Given the description of an element on the screen output the (x, y) to click on. 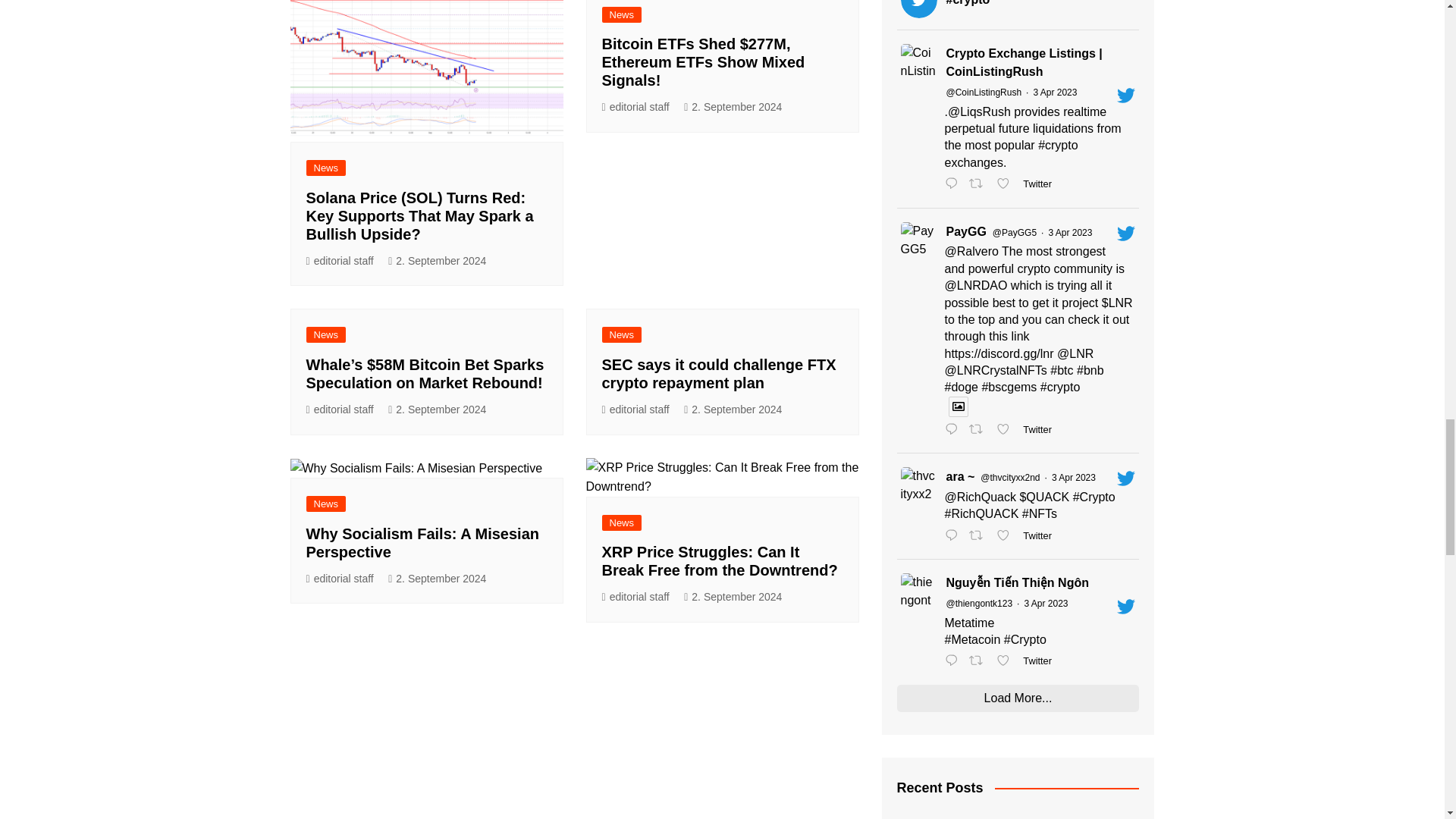
editorial staff (339, 261)
2. September 2024 (732, 107)
News (622, 14)
News (325, 167)
editorial staff (635, 107)
2. September 2024 (437, 261)
